Given the description of an element on the screen output the (x, y) to click on. 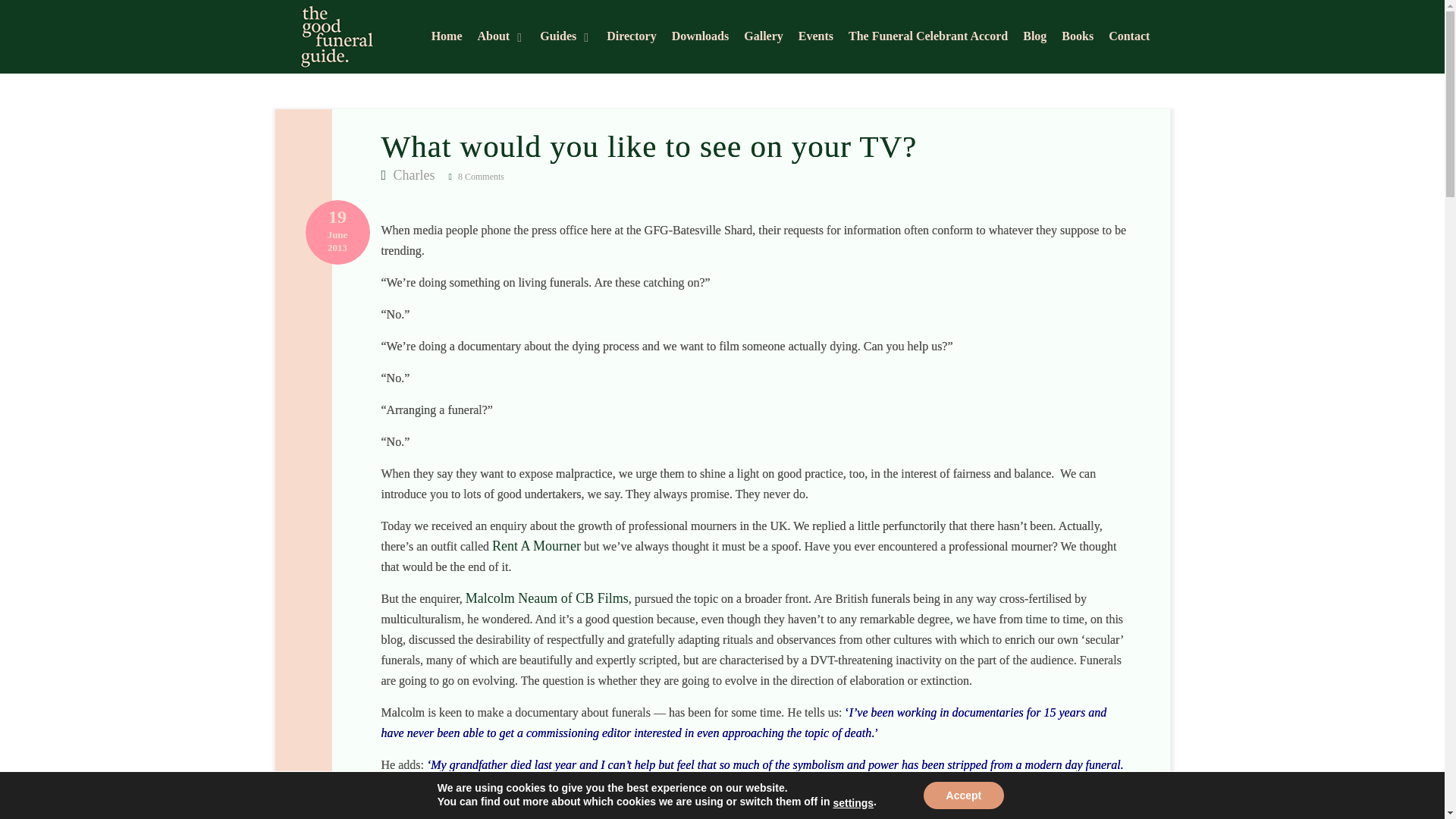
Books (1077, 38)
Rent A Mourner (536, 545)
Contact (1129, 38)
Malcolm Neaum of CB Films (546, 598)
Downloads (700, 38)
Gallery (763, 38)
Blog (1034, 38)
Directory (631, 38)
Home (446, 38)
The Funeral Celebrant Accord (927, 38)
Events (814, 38)
